Given the description of an element on the screen output the (x, y) to click on. 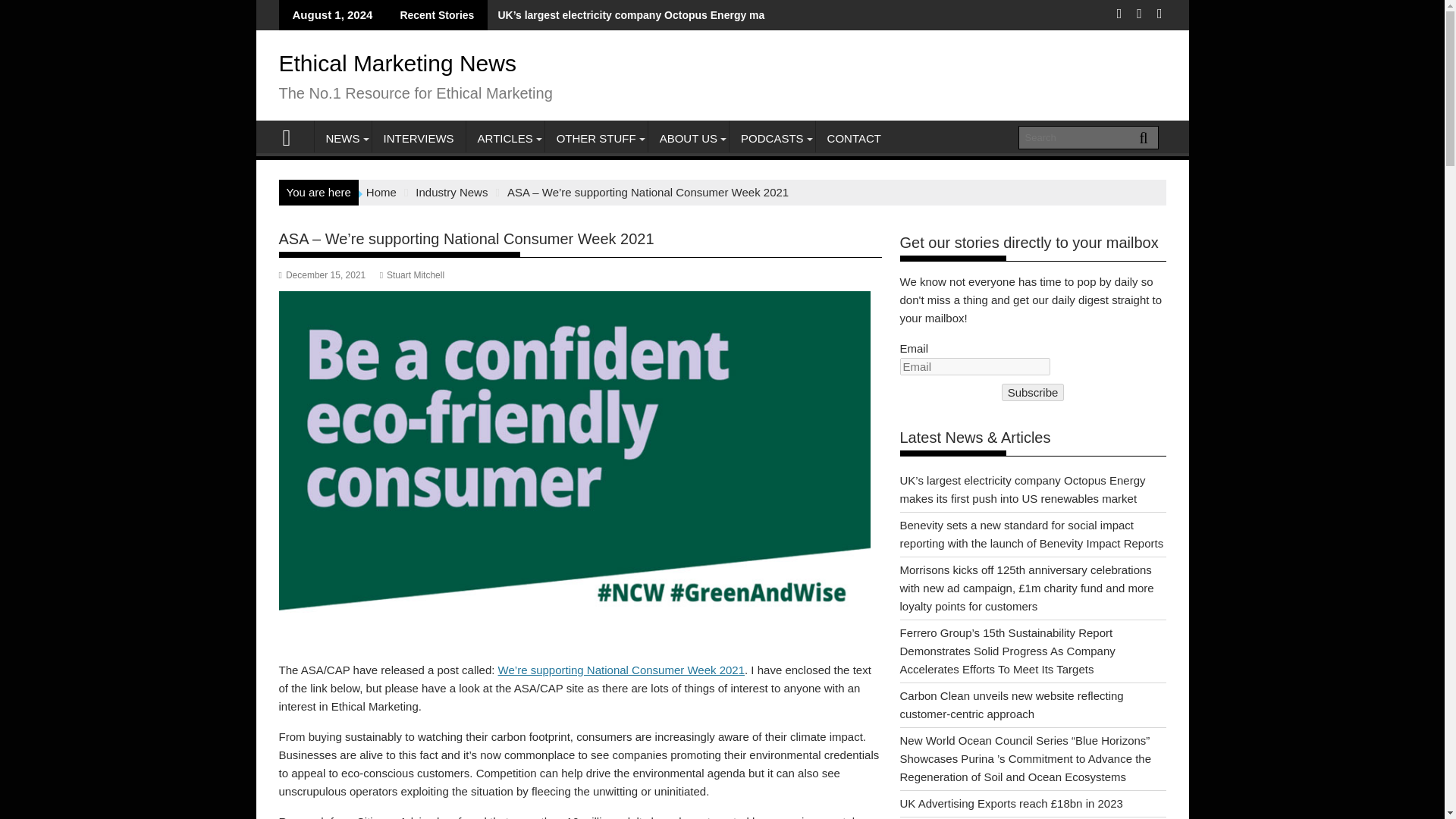
NEWS (342, 138)
ABOUT US (688, 138)
OTHER STUFF (595, 138)
ARTICLES (504, 138)
Ethical Marketing News (293, 136)
CONTACT (853, 138)
PODCASTS (772, 138)
Subscribe (1032, 392)
INTERVIEWS (417, 138)
Ethical Marketing News (397, 63)
